Given the description of an element on the screen output the (x, y) to click on. 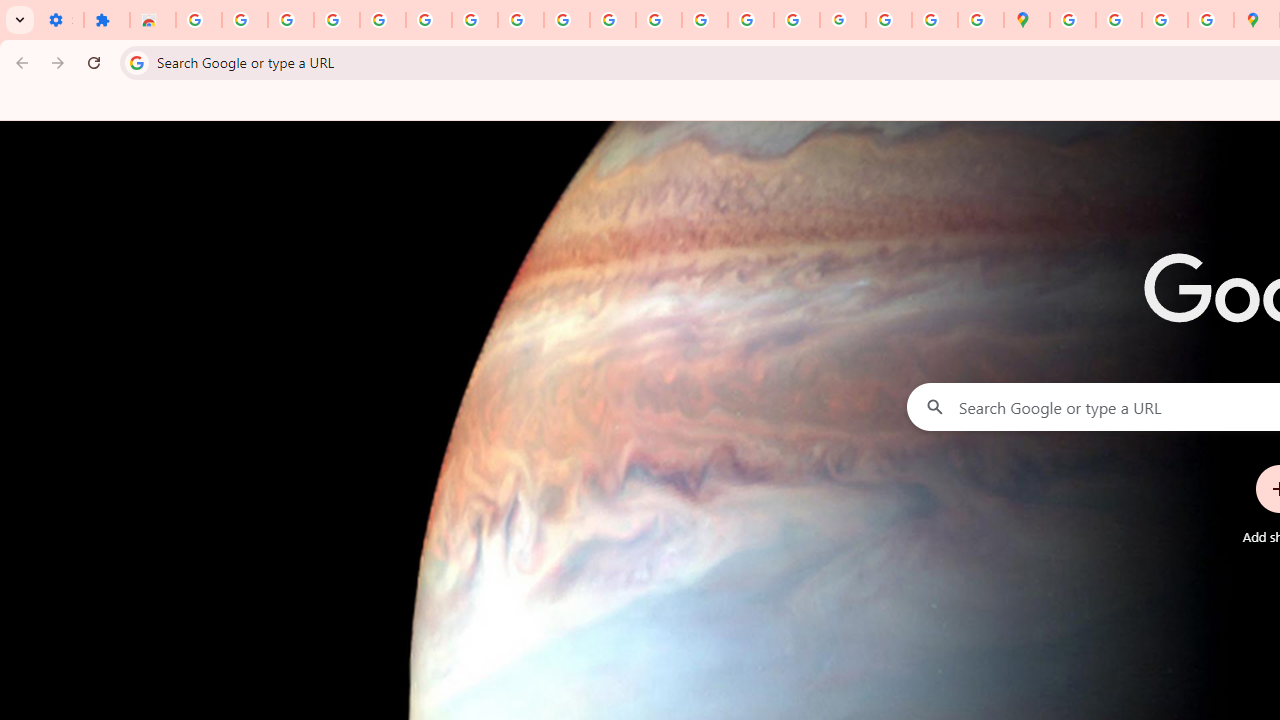
Google Account (520, 20)
Settings - On startup (60, 20)
Safety in Our Products - Google Safety Center (1210, 20)
https://scholar.google.com/ (659, 20)
YouTube (567, 20)
Reviews: Helix Fruit Jump Arcade Game (153, 20)
